Given the description of an element on the screen output the (x, y) to click on. 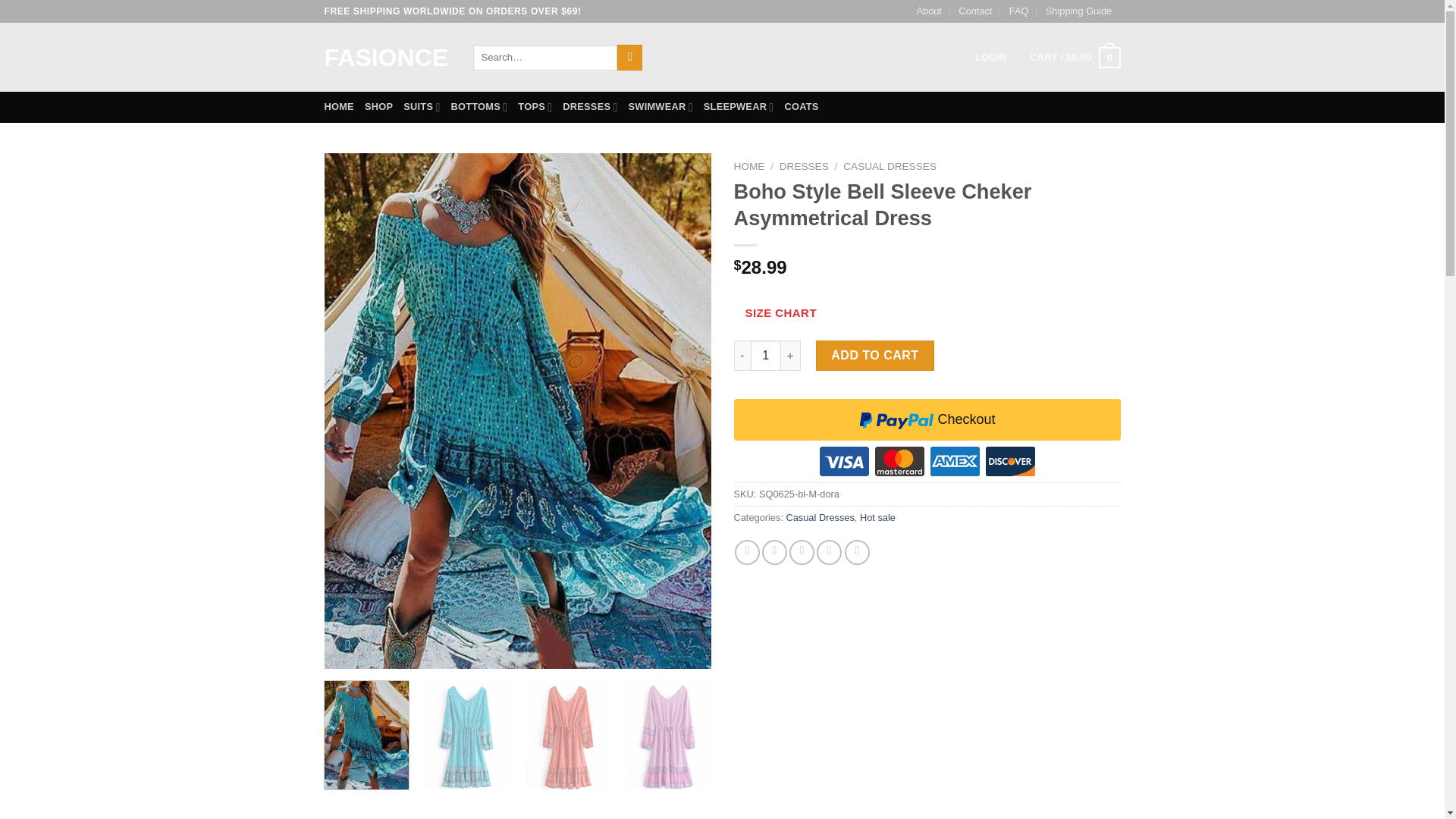
Contact (974, 11)
LOGIN (991, 57)
SUITS (421, 106)
TOPS (534, 106)
1 (765, 355)
FASIONCE (386, 57)
DRESSES (589, 106)
HOME (338, 106)
About (927, 11)
PayPal (927, 440)
- (742, 355)
FAQ (1019, 11)
BOTTOMS (477, 106)
